Given the description of an element on the screen output the (x, y) to click on. 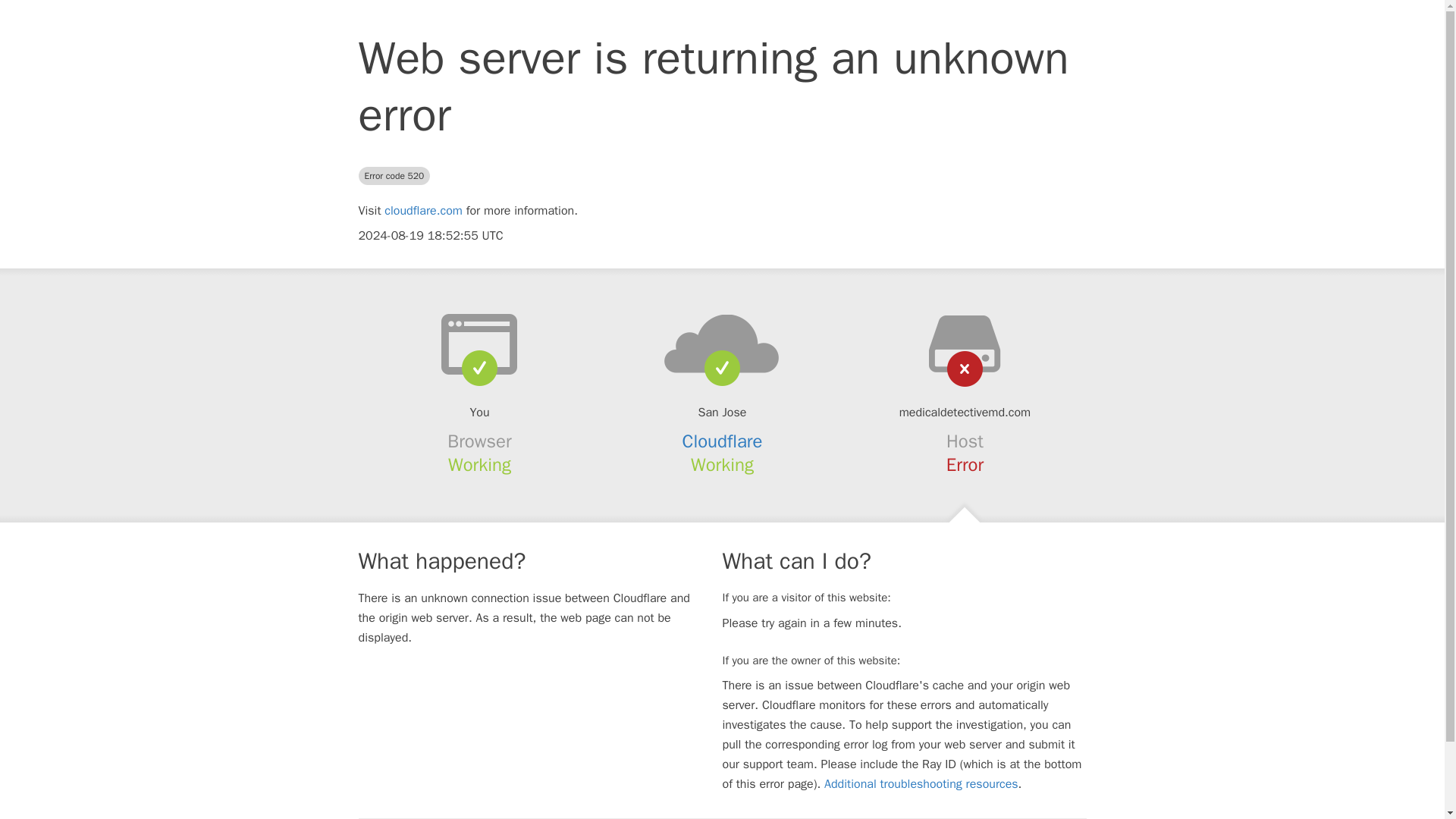
Additional troubleshooting resources (920, 783)
Cloudflare (722, 440)
cloudflare.com (423, 210)
